Given the description of an element on the screen output the (x, y) to click on. 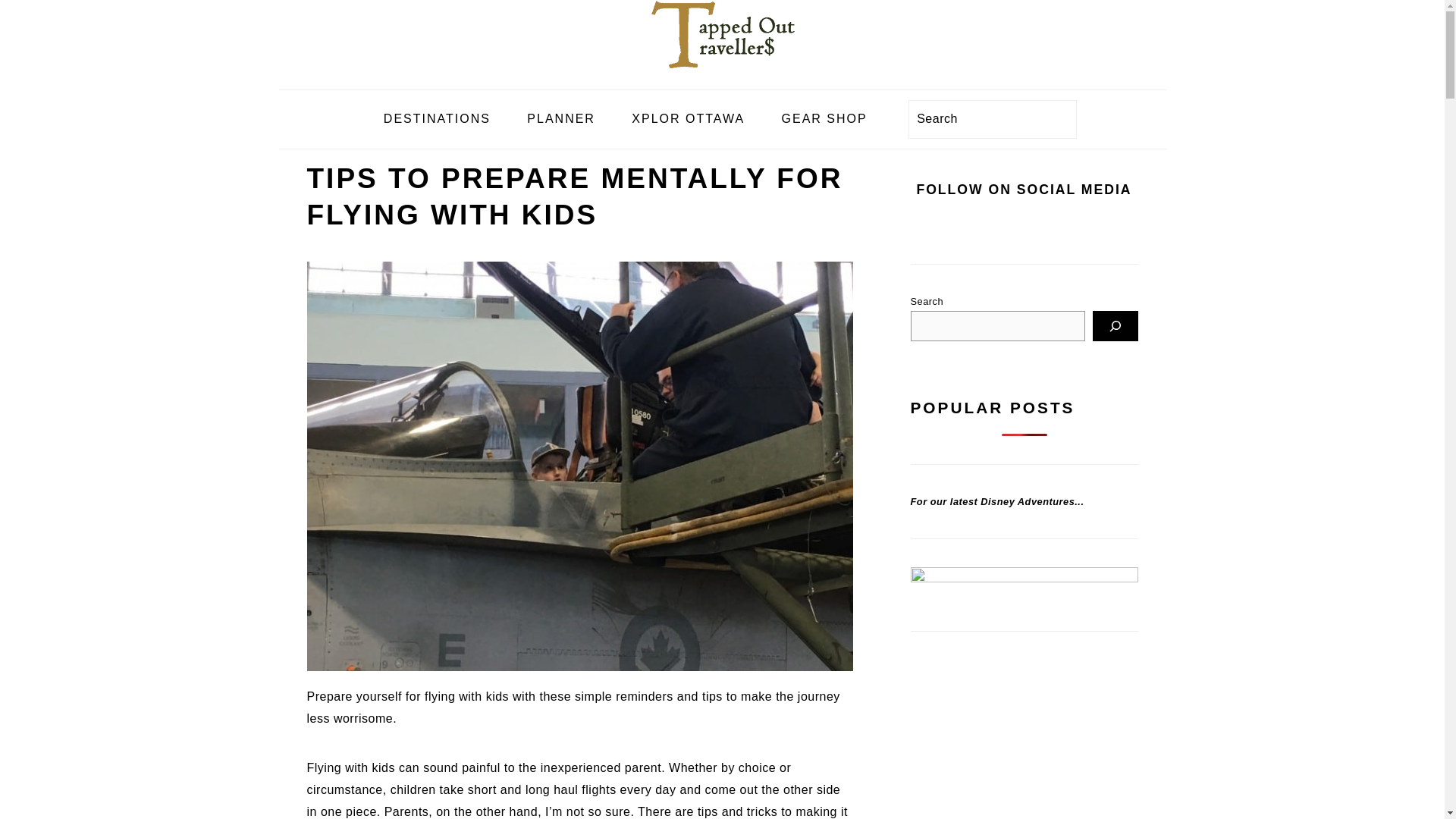
Tapped Out Travellers (721, 34)
Destinations (437, 119)
XPLOR OTTAWA (687, 119)
DESTINATIONS (437, 119)
PLANNER (561, 119)
GEAR SHOP (824, 119)
Tapped Out Travellers (721, 77)
